Given the description of an element on the screen output the (x, y) to click on. 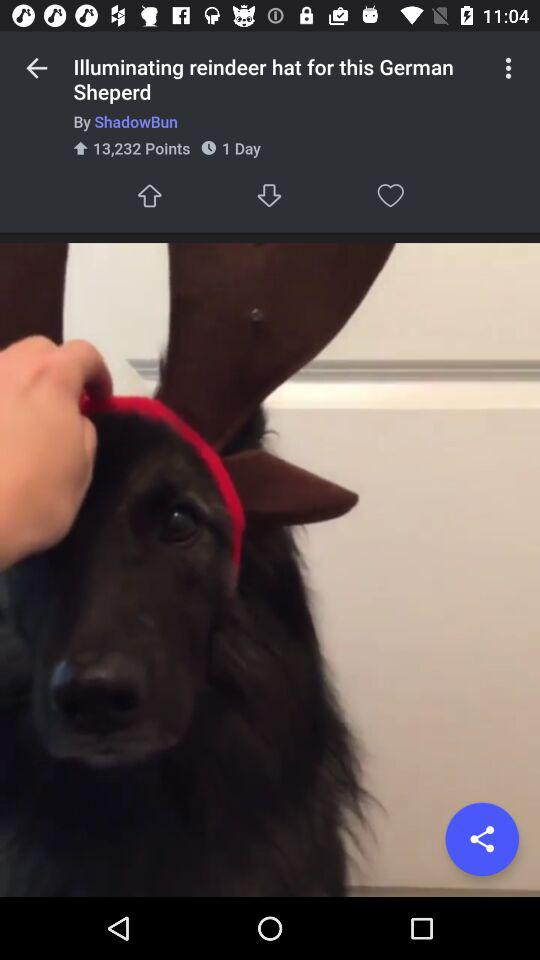
click icon below the by shadowbun (390, 195)
